Given the description of an element on the screen output the (x, y) to click on. 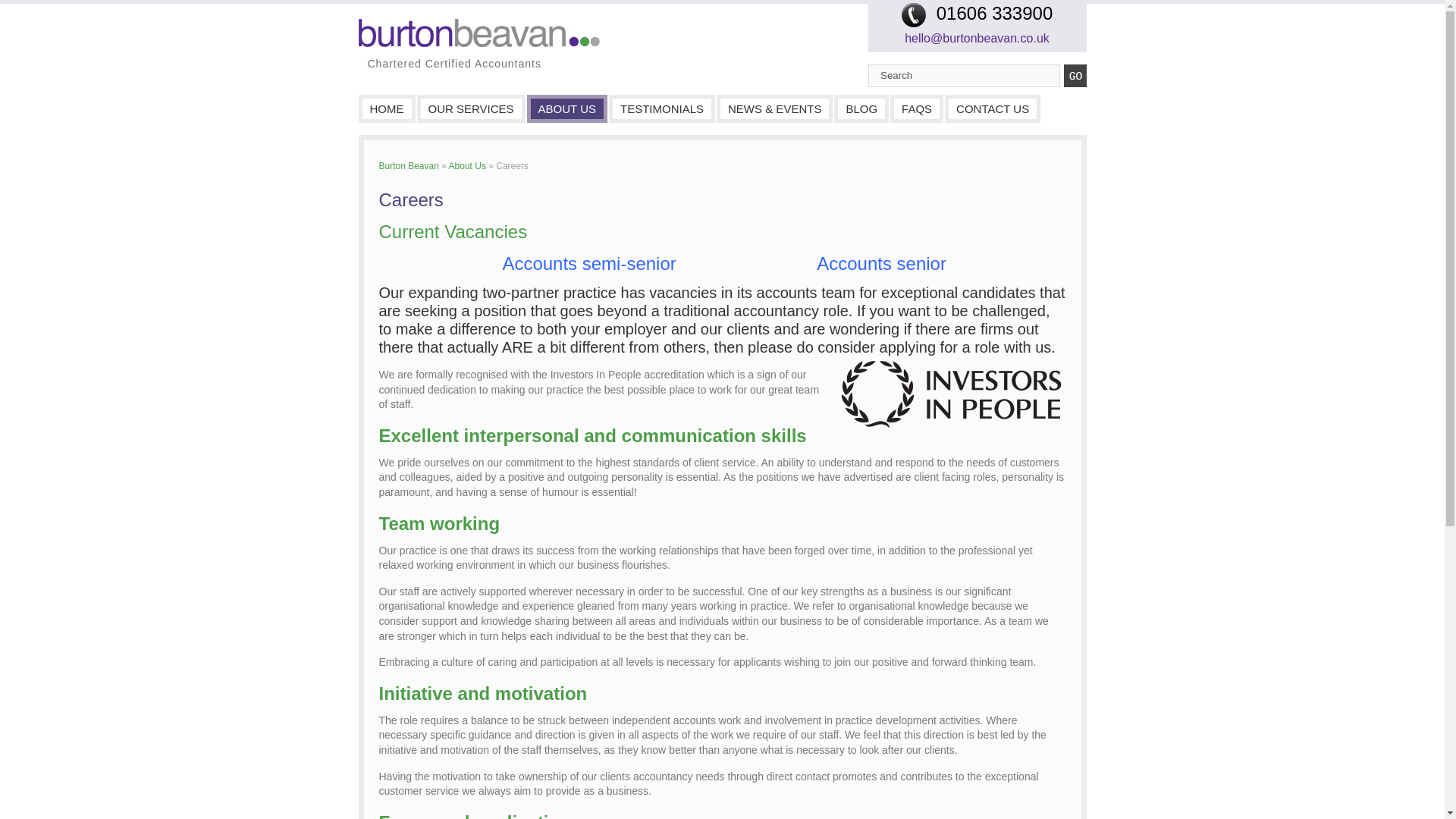
ABOUT US (567, 108)
About Us (467, 165)
Go to About Us. (467, 165)
CONTACT US (992, 108)
Go to Burton Beavan. (408, 165)
Search (963, 75)
TESTIMONIALS (661, 108)
FAQS (916, 108)
Accounts senior (881, 263)
Chartered Certified Accountants (478, 32)
